Given the description of an element on the screen output the (x, y) to click on. 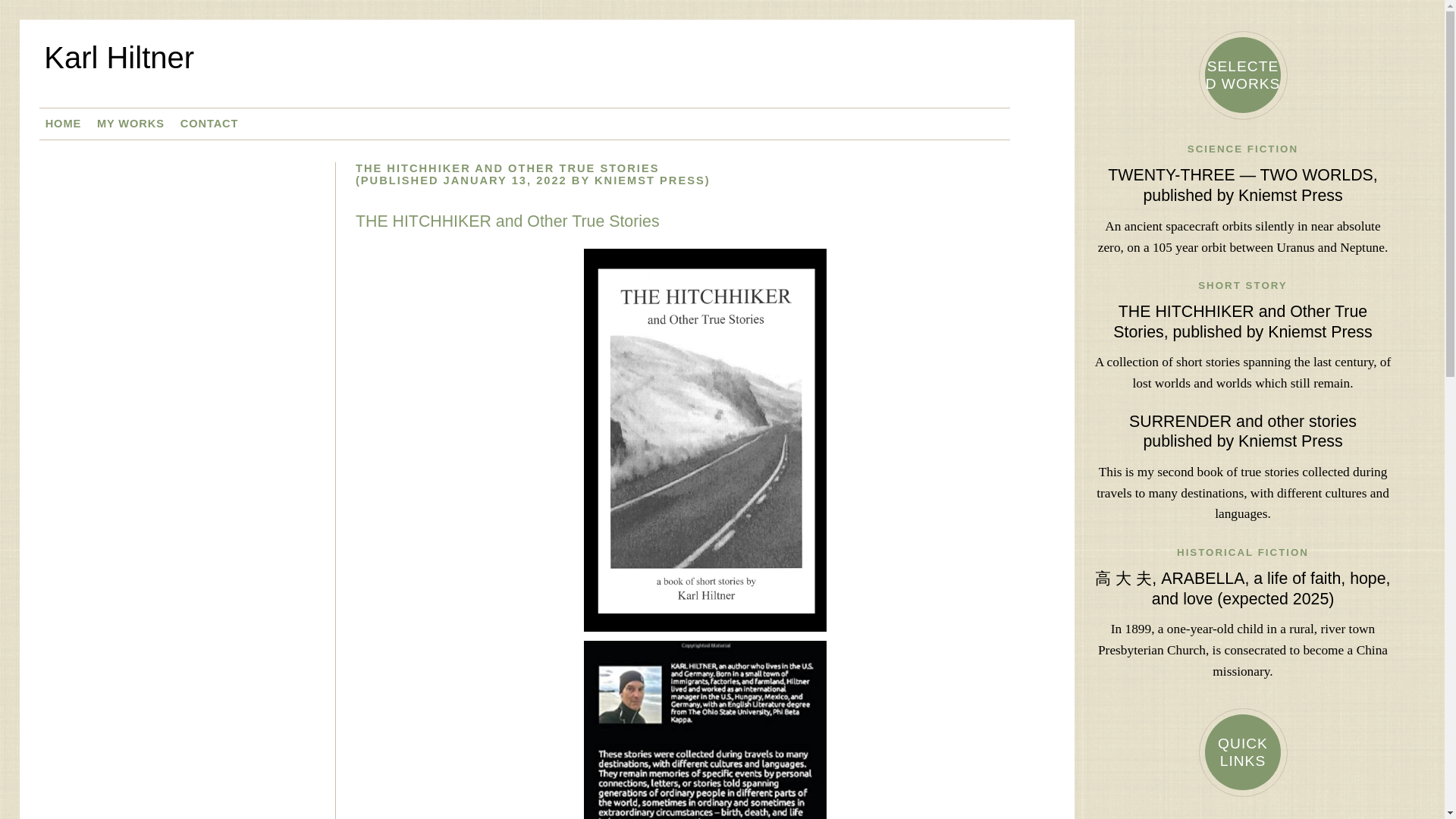
SURRENDER and other stories published by Kniemst Press (1242, 431)
Karl Hiltner (548, 69)
Authors Guild (1242, 818)
THE HITCHHIKER and Other True Stories (507, 221)
HOME (63, 123)
MY WORKS (130, 123)
CONTACT (209, 123)
